Given the description of an element on the screen output the (x, y) to click on. 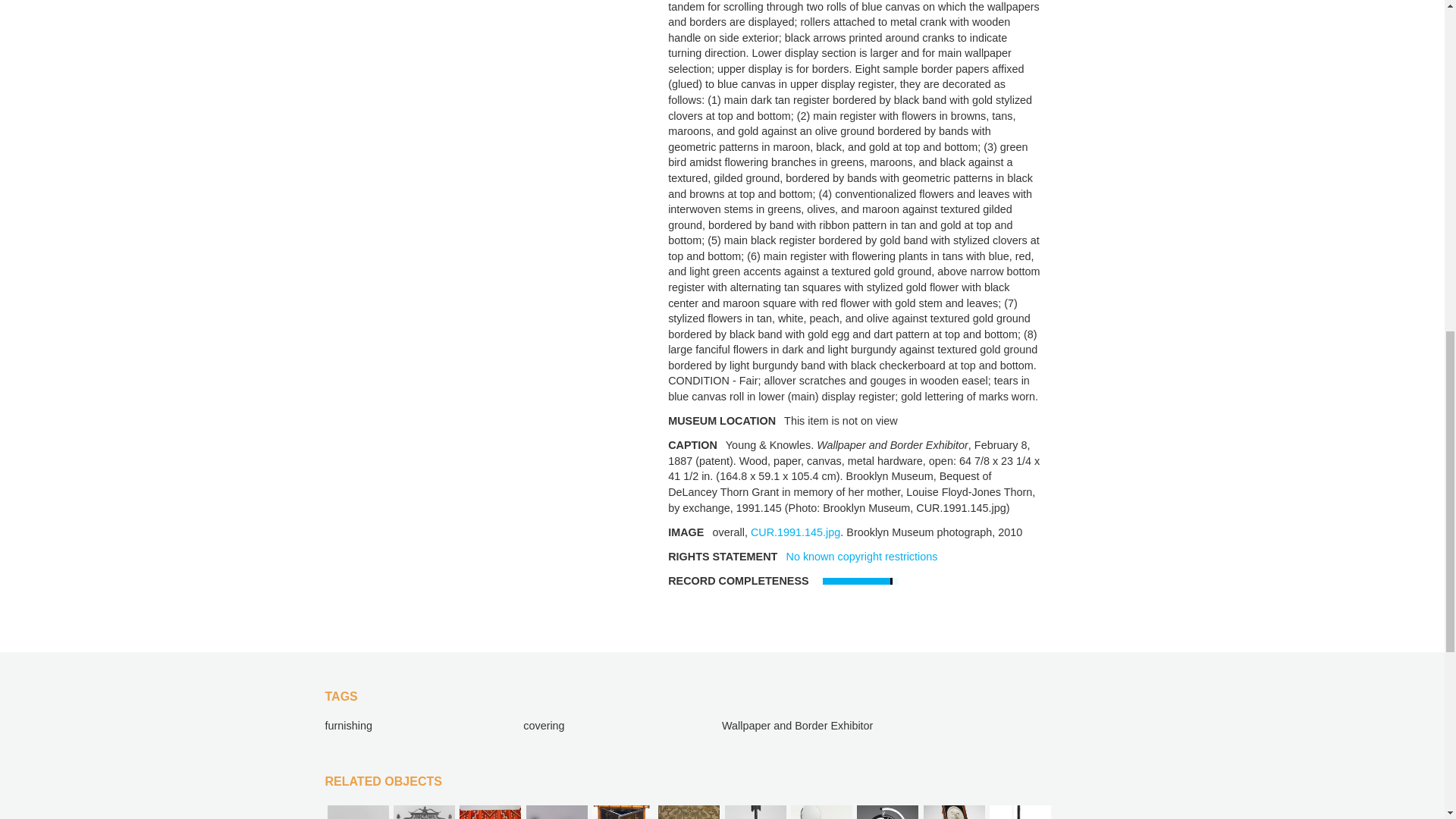
Items tagged covering (543, 725)
Items tagged Wallpaper and Border Exhibitor (797, 725)
Items tagged furnishing (347, 725)
